Given the description of an element on the screen output the (x, y) to click on. 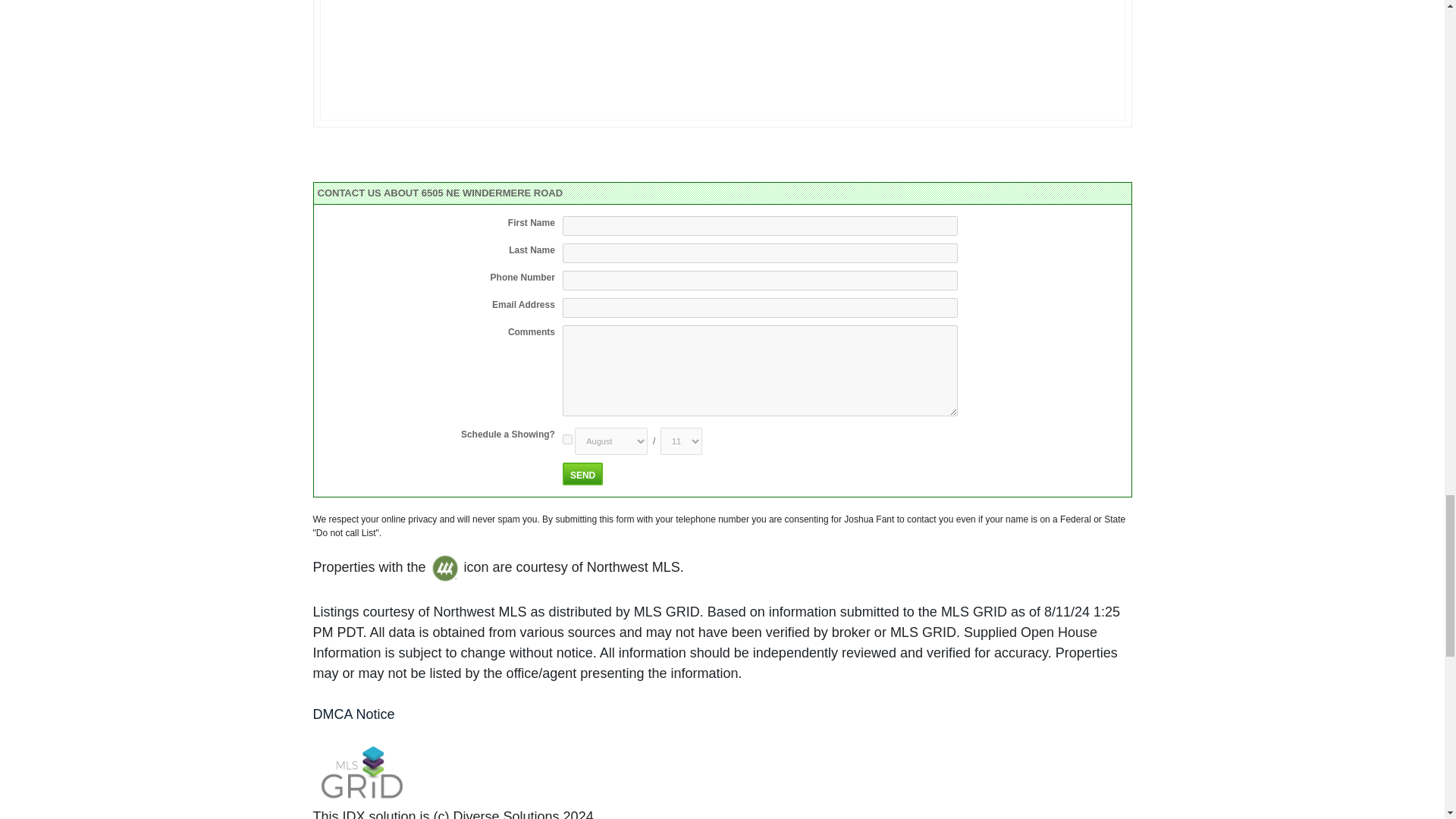
on (567, 439)
SEND (582, 473)
DMCA Notice (353, 713)
